Given the description of an element on the screen output the (x, y) to click on. 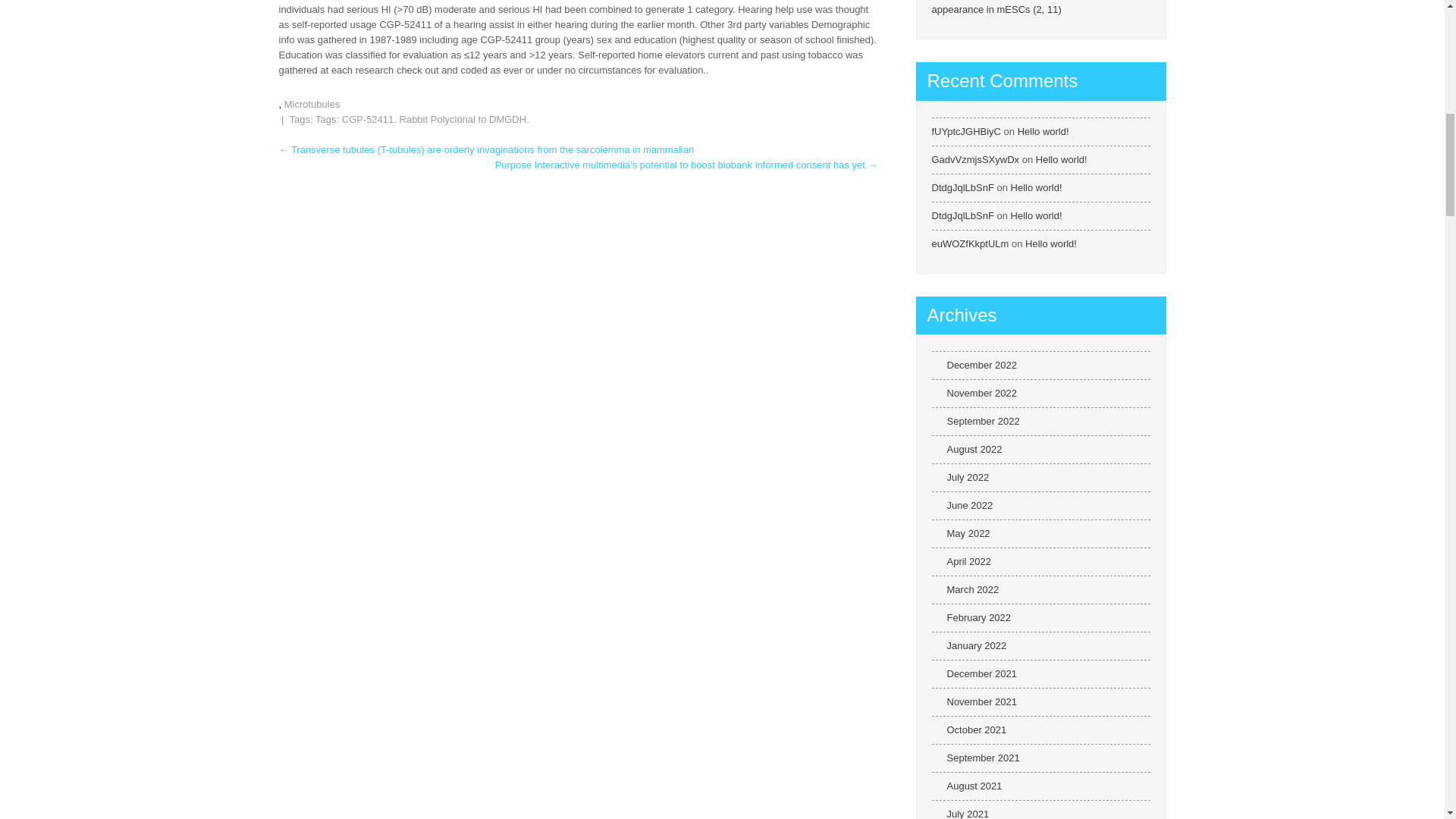
DtdgJqlLbSnF (961, 215)
DtdgJqlLbSnF (961, 187)
June 2022 (961, 505)
fUYptcJGHBiyC (966, 131)
May 2022 (960, 533)
December 2022 (973, 365)
November 2022 (973, 393)
Hello world! (1051, 243)
Hello world! (1036, 215)
September 2022 (975, 420)
